Given the description of an element on the screen output the (x, y) to click on. 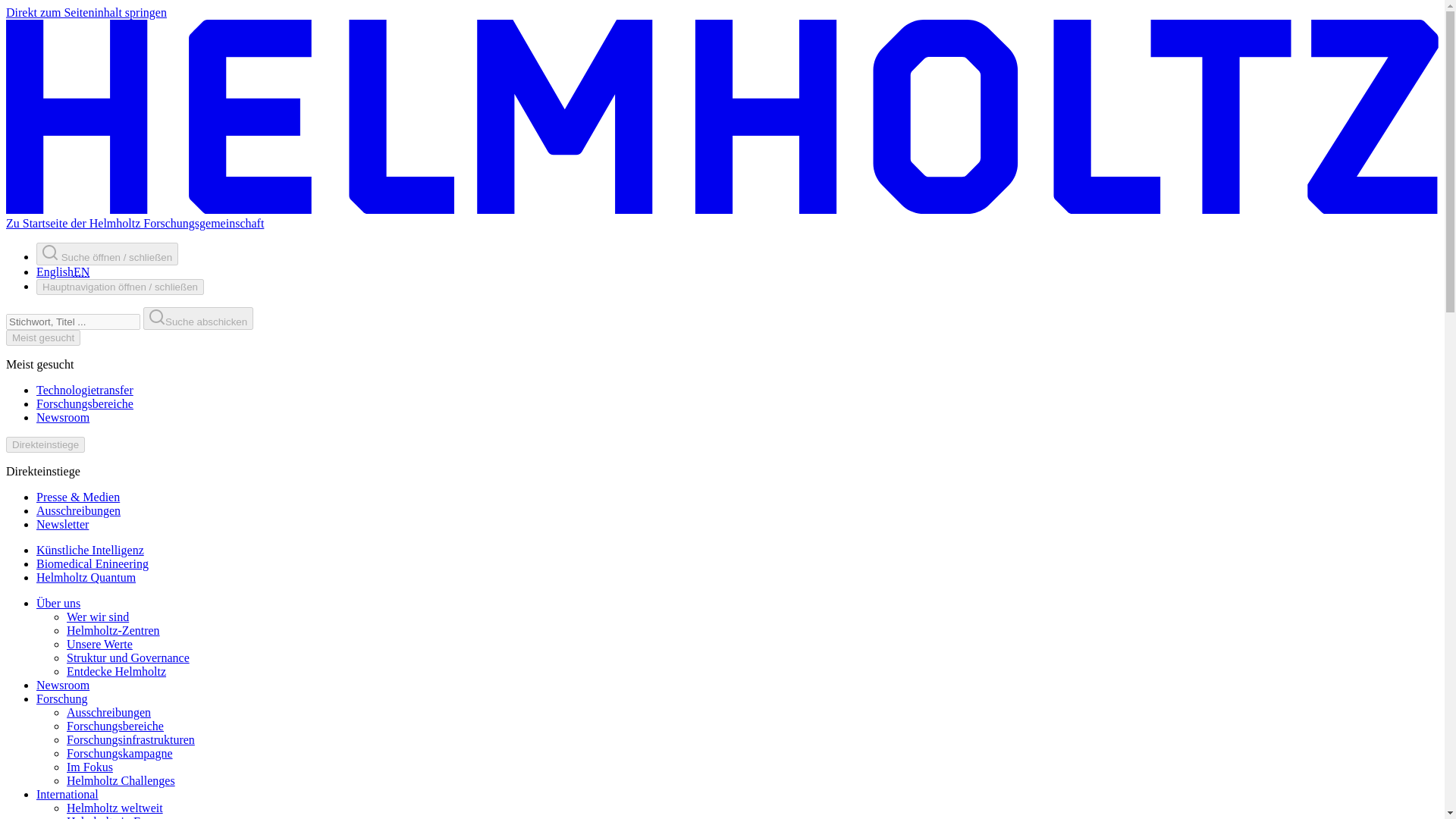
Forschungsinfrastrukturen (130, 739)
Newsletter (62, 523)
Forschungsbereiche (114, 725)
Biomedical Enineering (92, 563)
Helmholtz in Europa (117, 816)
Helmholtz Challenges (120, 780)
Meist gesucht (42, 337)
Technologietransfer (84, 390)
Forschung (61, 698)
International (67, 793)
English (81, 271)
Entdecke Helmholtz (115, 671)
Ausschreibungen (78, 510)
Im Fokus (89, 766)
EnglishEN (62, 271)
